Given the description of an element on the screen output the (x, y) to click on. 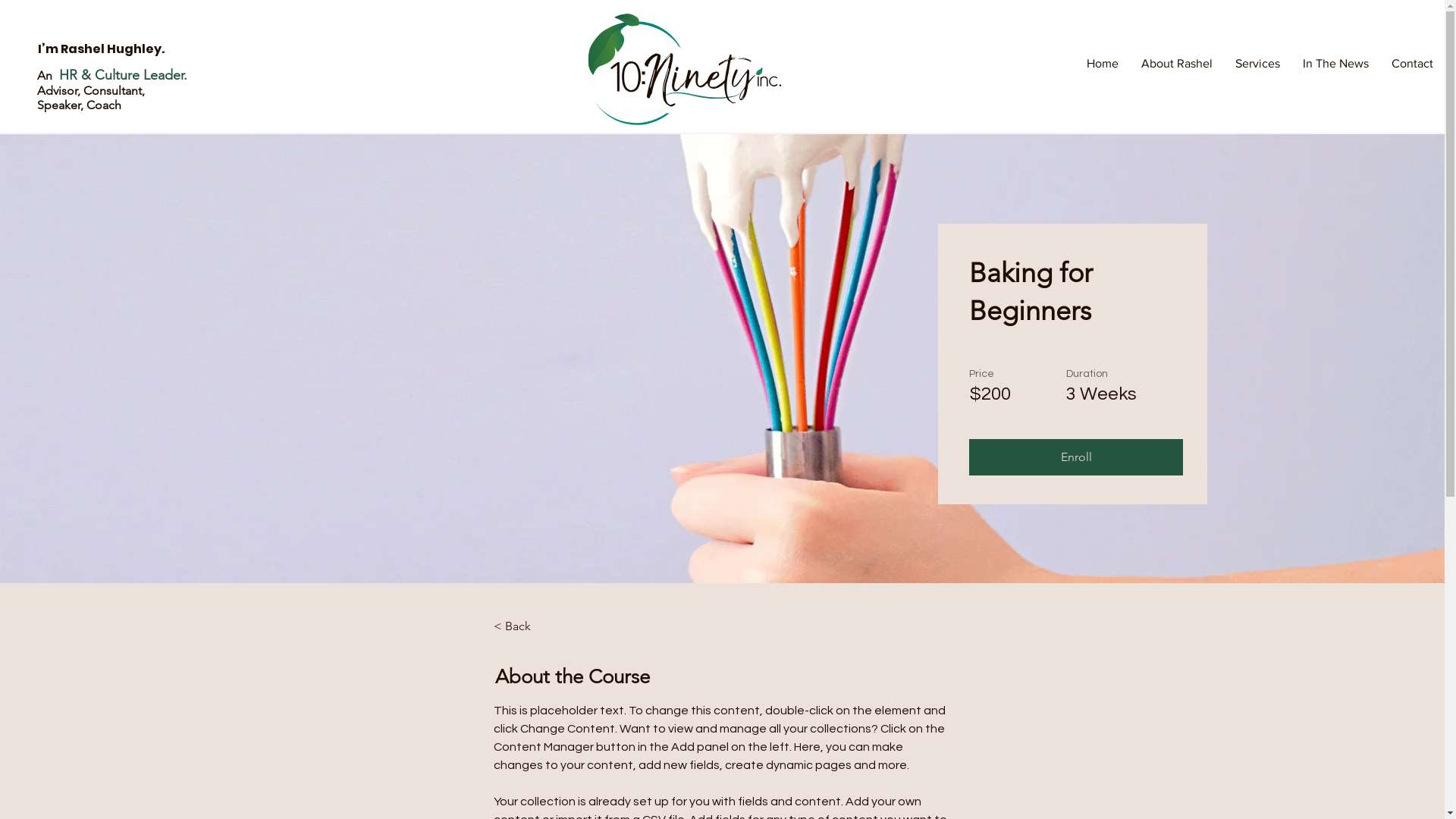
In The News Element type: text (1335, 63)
About Rashel Element type: text (1176, 63)
< Back Element type: text (534, 626)
Home Element type: text (1102, 63)
Contact Element type: text (1412, 63)
Services Element type: text (1257, 63)
